Given the description of an element on the screen output the (x, y) to click on. 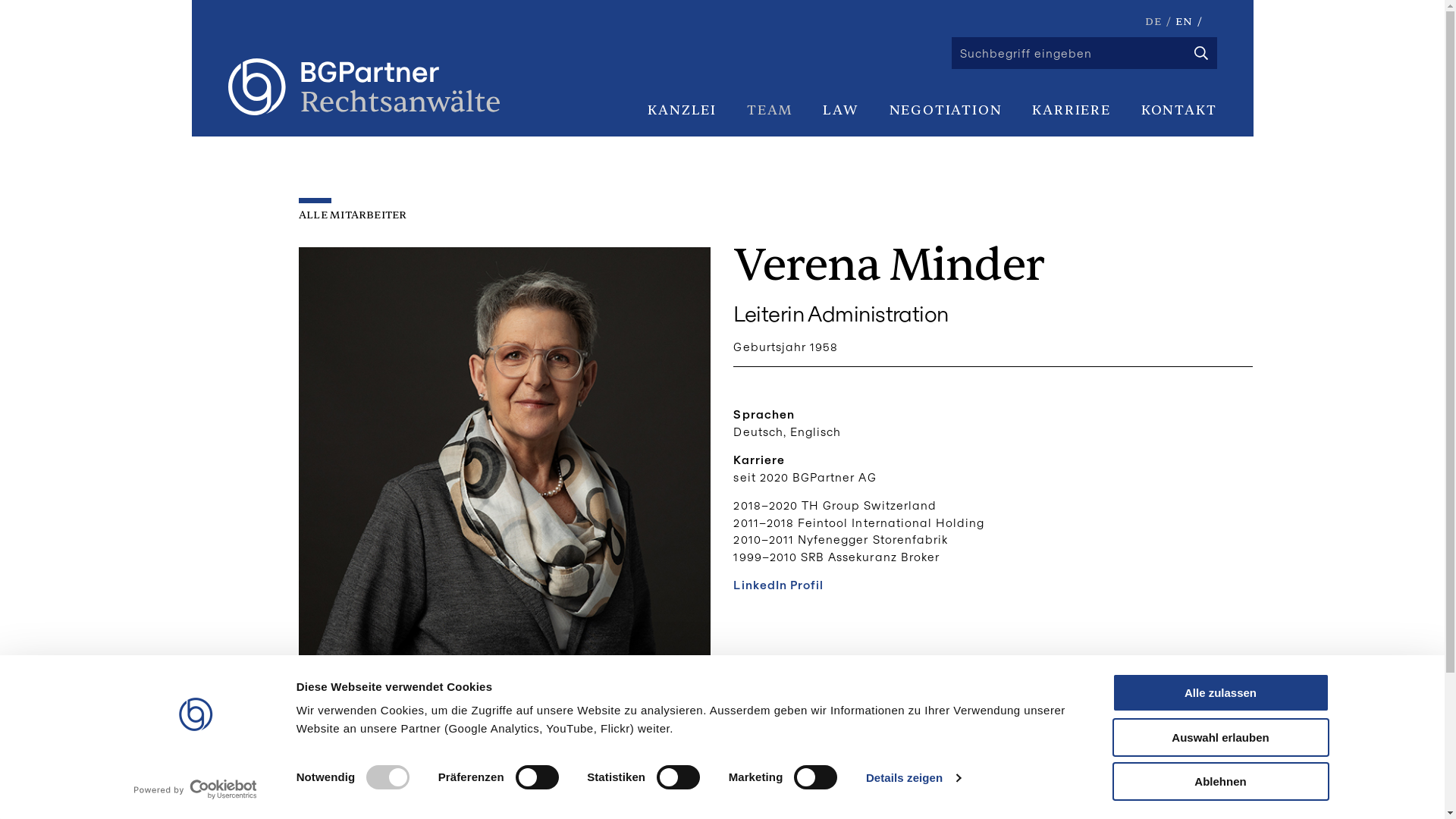
TEAM Element type: text (769, 109)
KARRIERE Element type: text (1071, 109)
KONTAKT Element type: text (1179, 109)
Ablehnen Element type: text (1219, 781)
LinkedIn Profil Element type: text (778, 584)
KANZLEI Element type: text (681, 109)
NEGOTIATION Element type: text (945, 109)
Alle zulassen Element type: text (1219, 692)
Details zeigen Element type: text (913, 777)
LAW Element type: text (840, 109)
ALLE MITARBEITER Element type: text (352, 209)
Auswahl erlauben Element type: text (1219, 736)
BGPartner AG Element type: hover (362, 86)
minder@bgpartner.ch Element type: text (407, 686)
EN Element type: text (1183, 21)
